Given the description of an element on the screen output the (x, y) to click on. 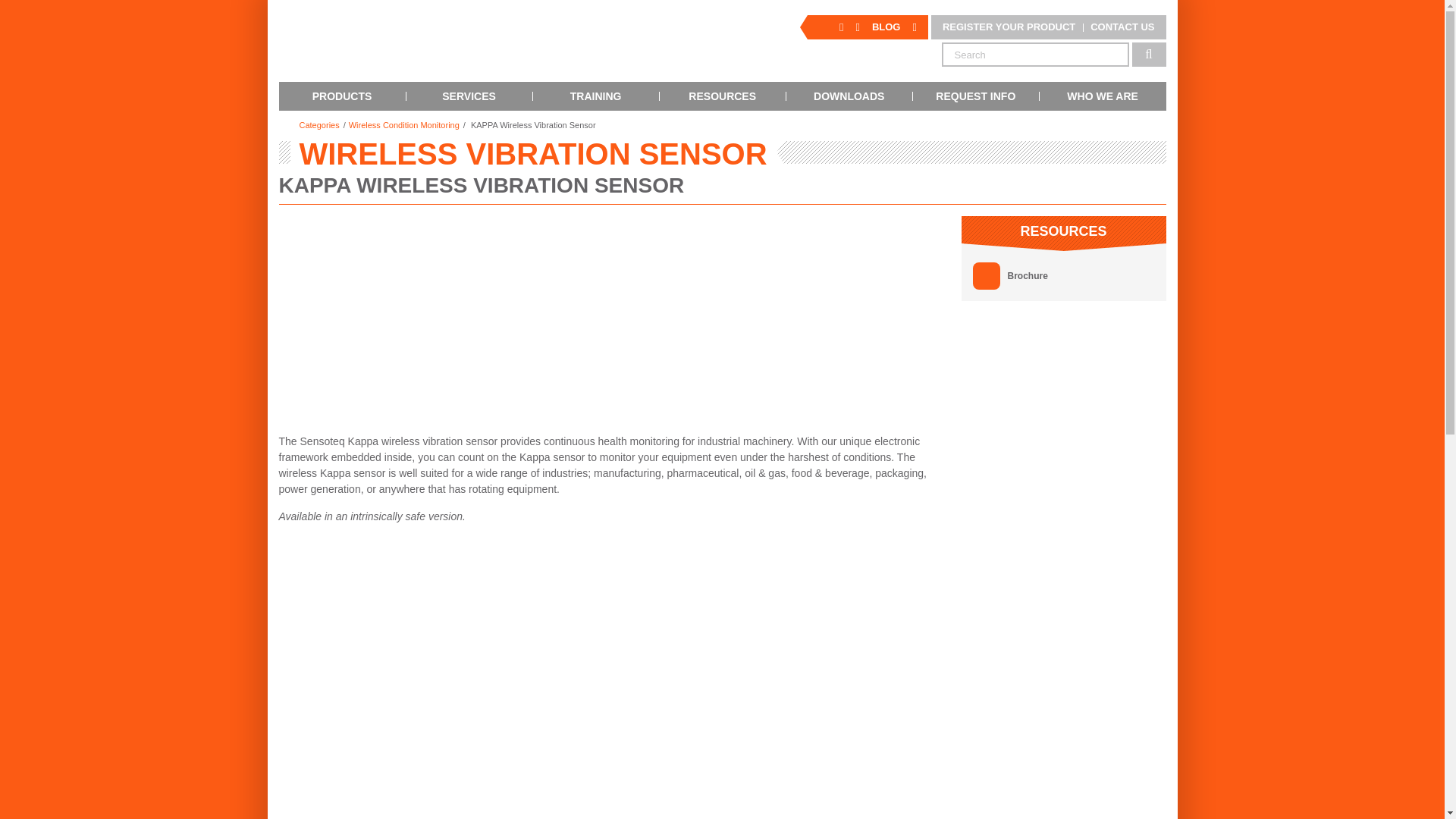
TRAINING (595, 95)
PRODUCTS (342, 95)
BLOG (886, 27)
SERVICES (469, 95)
